Given the description of an element on the screen output the (x, y) to click on. 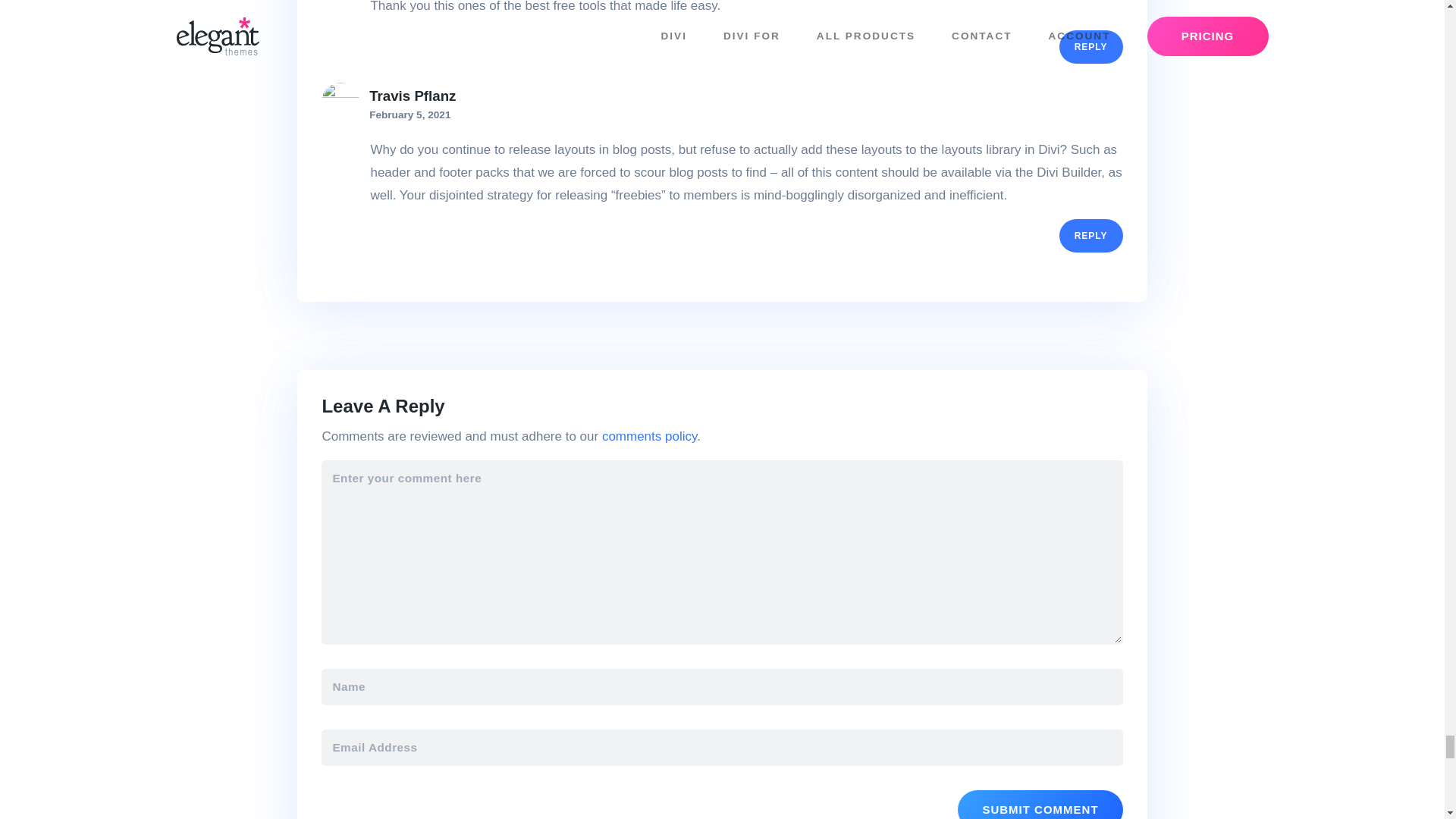
Submit Comment (1040, 804)
